Given the description of an element on the screen output the (x, y) to click on. 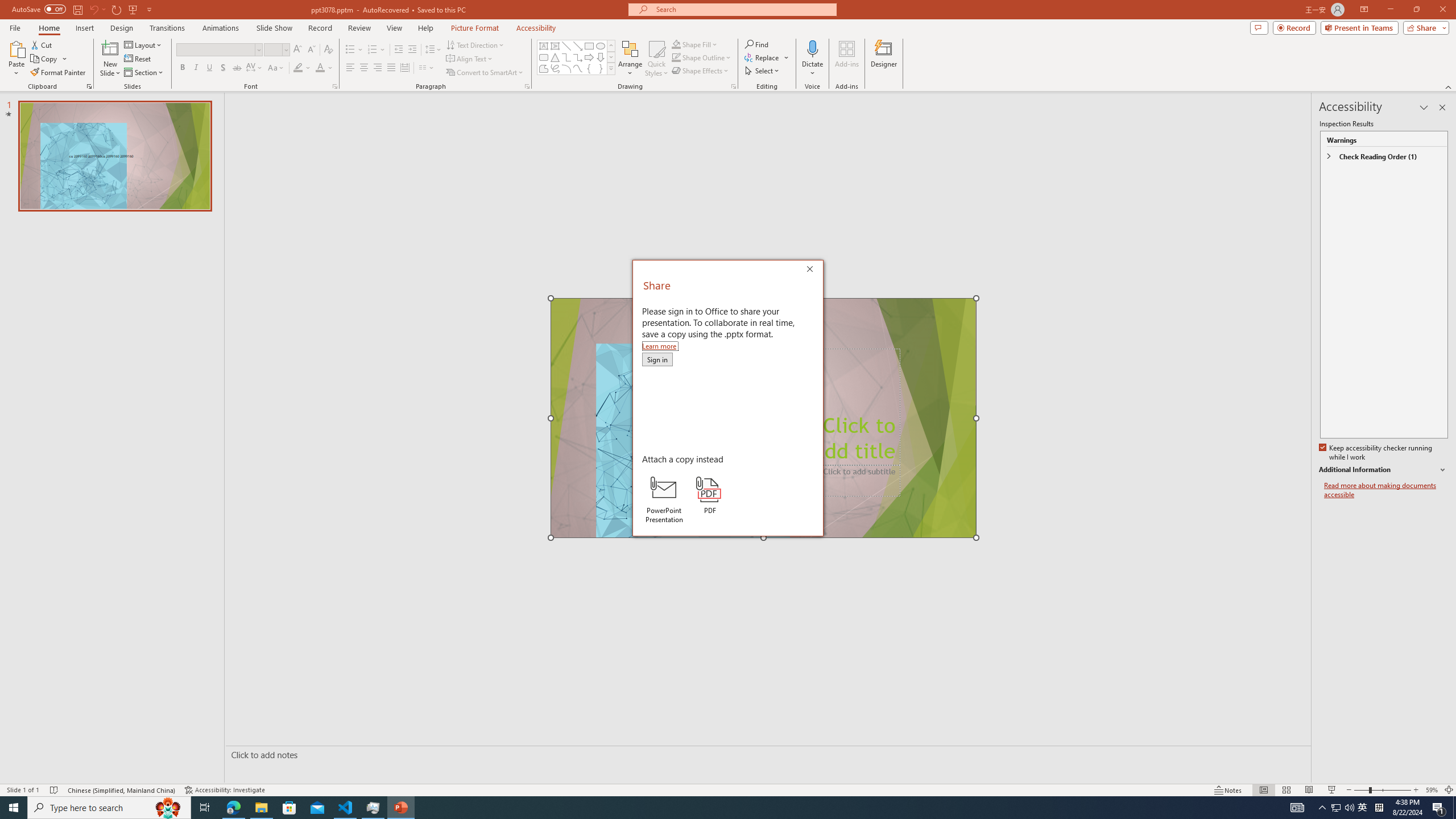
Decrease Indent (398, 49)
Italic (195, 67)
Strikethrough (237, 67)
Center (363, 67)
Connector: Elbow Arrow (577, 57)
Text Direction (476, 44)
Shapes (611, 68)
Vertical Text Box (554, 45)
